Given the description of an element on the screen output the (x, y) to click on. 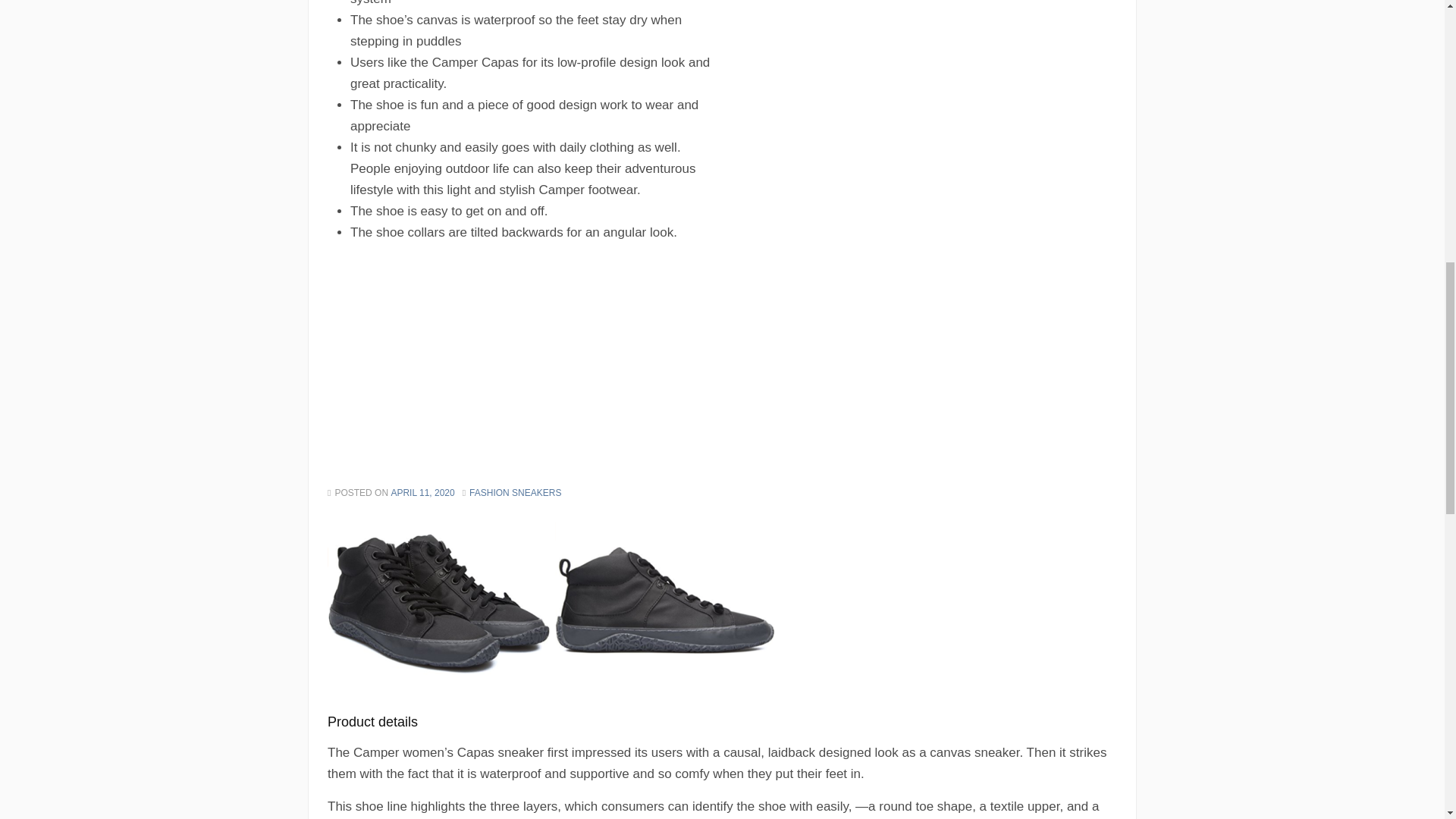
FASHION SNEAKERS (514, 492)
